Given the description of an element on the screen output the (x, y) to click on. 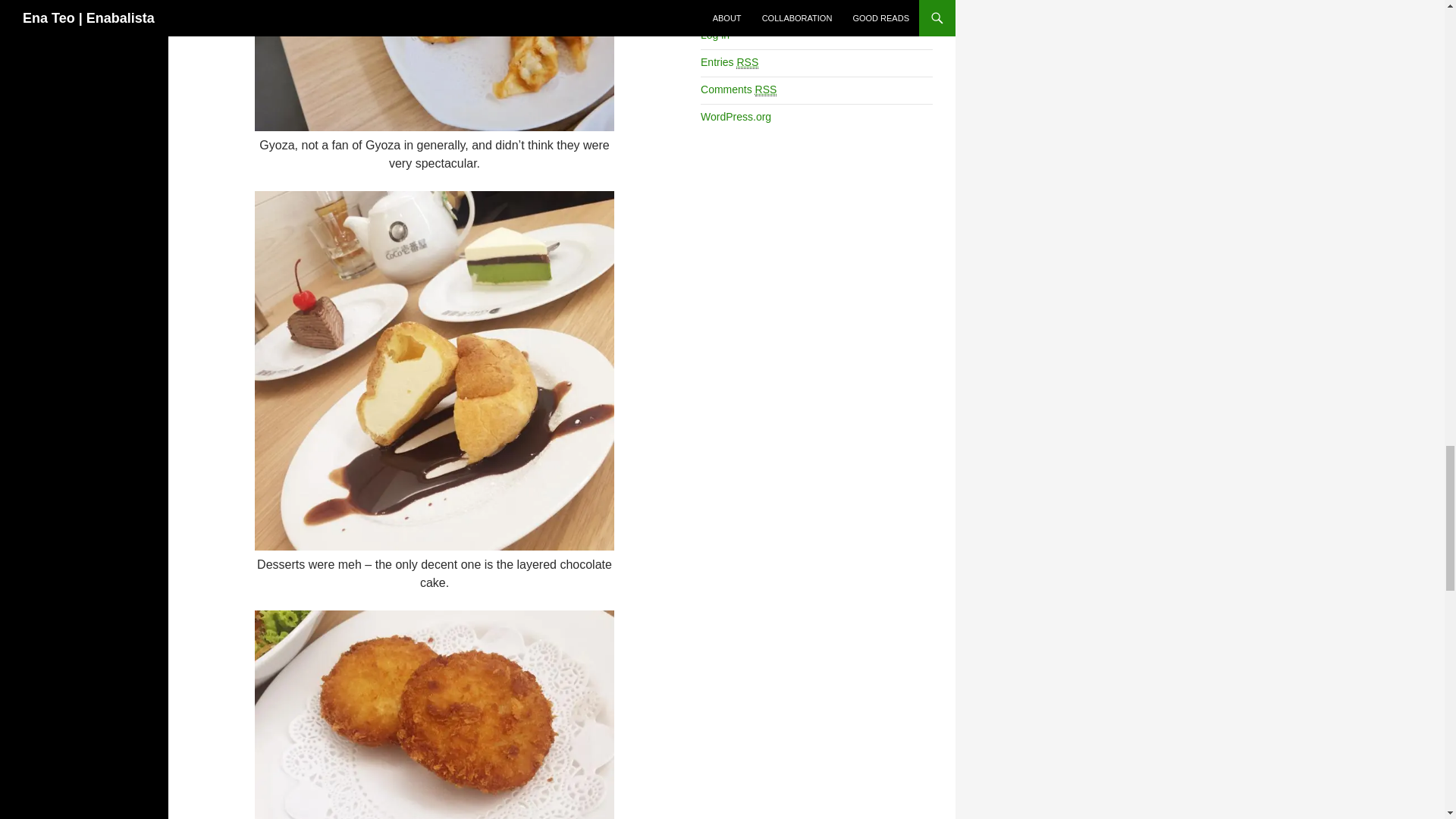
Really Simple Syndication (747, 62)
Really Simple Syndication (766, 89)
